Given the description of an element on the screen output the (x, y) to click on. 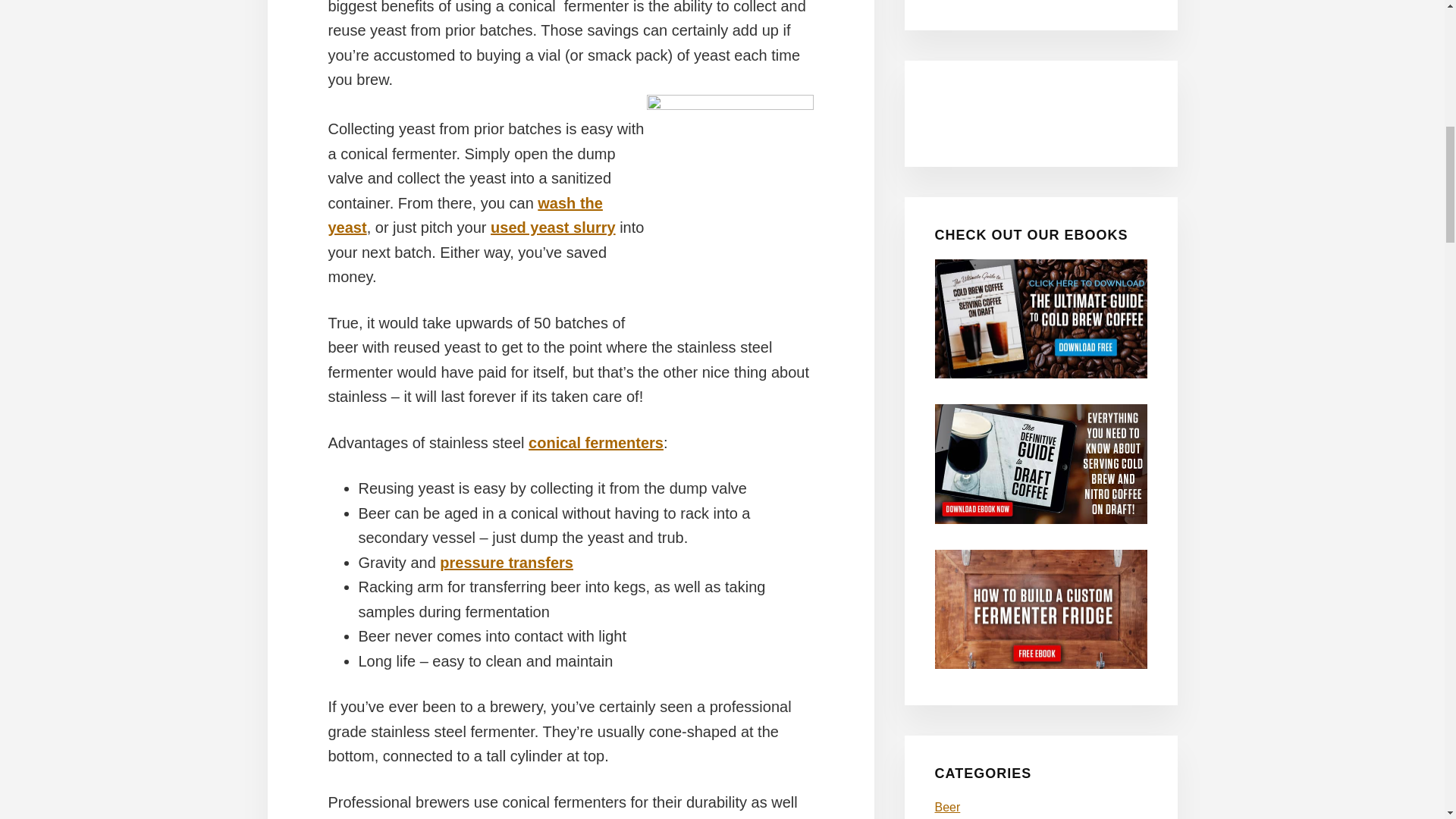
conical fermenters (595, 442)
pressure transfers (506, 562)
used yeast slurry (552, 227)
wash the yeast (464, 215)
